Given the description of an element on the screen output the (x, y) to click on. 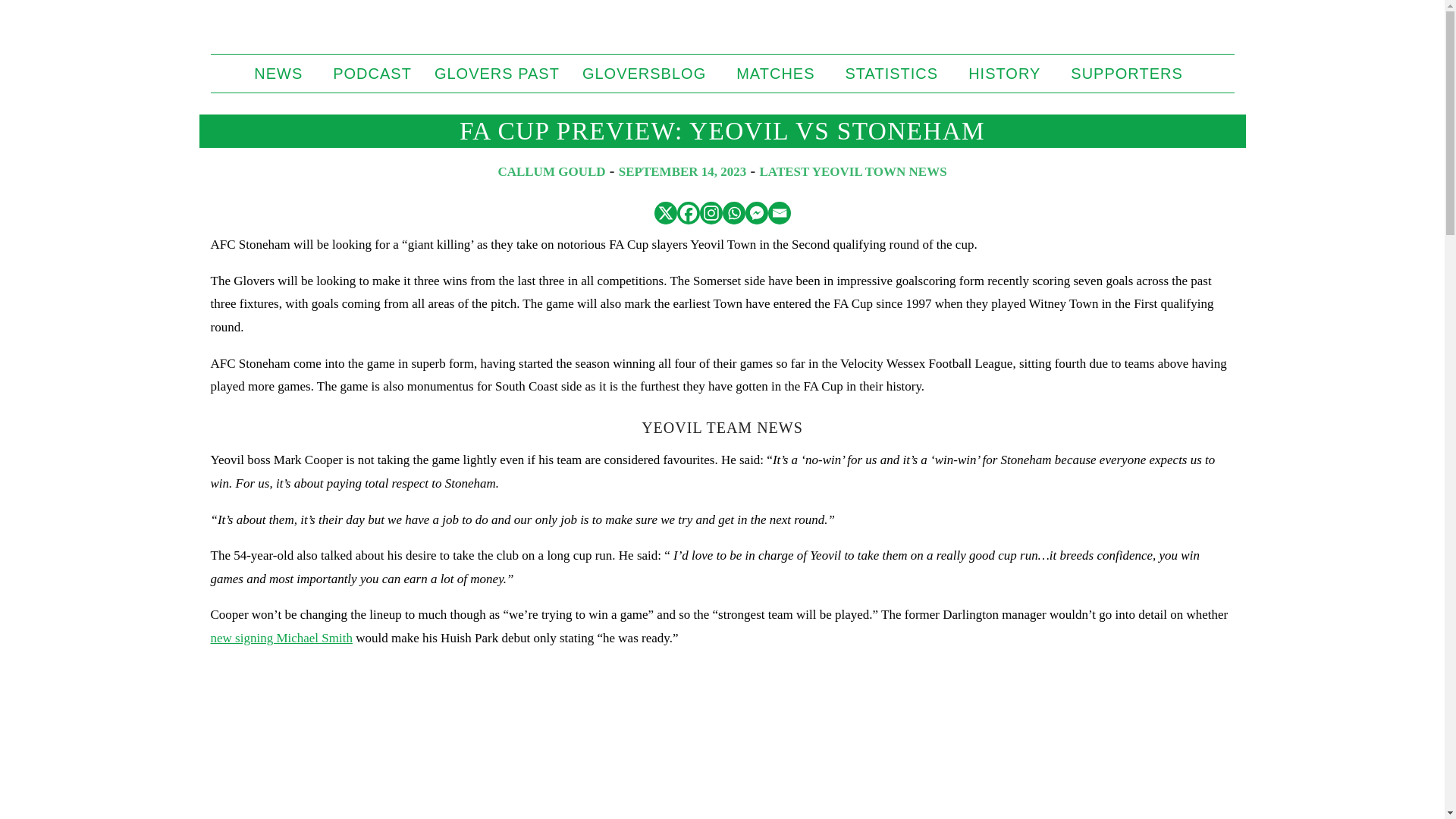
Facebook (687, 212)
STATISTICS (896, 73)
GLOVERS PAST (496, 73)
Thursday, September 14, 2023, 9:11 pm (682, 171)
NEWS (282, 73)
HISTORY (1007, 73)
LATEST YEOVIL TOWN NEWS (853, 171)
CALLUM GOULD (551, 171)
PODCAST (372, 73)
X (665, 212)
Posts by Callum Gould (551, 171)
SUPPORTERS (1130, 73)
Email (778, 212)
Whatsapp (733, 212)
